Given the description of an element on the screen output the (x, y) to click on. 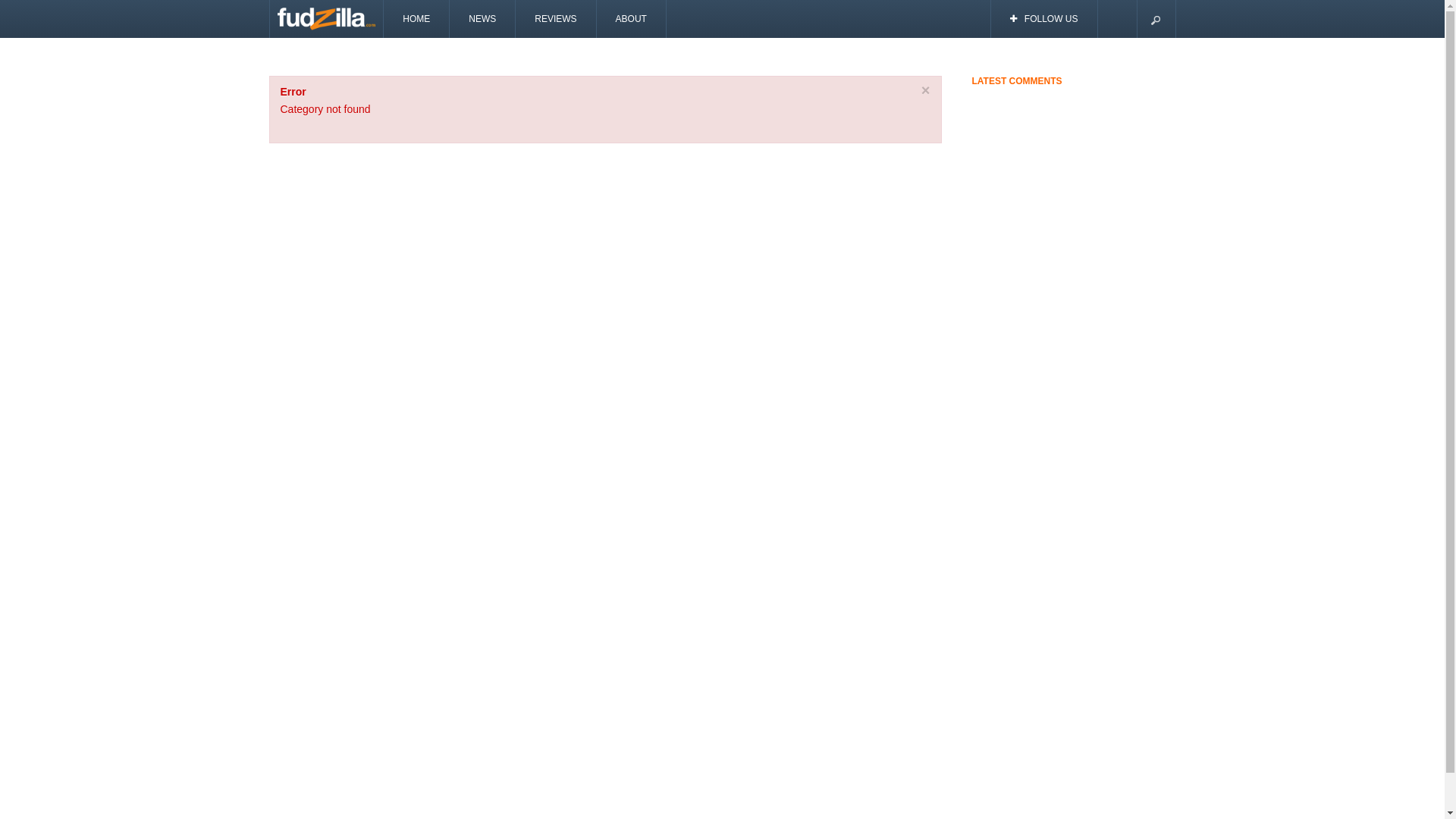
NEWS Element type: text (482, 18)
REVIEWS Element type: text (555, 18)
Fudzilla Element type: hover (326, 18)
FOLLOW US Element type: text (1044, 18)
HOME Element type: text (416, 18)
ABOUT Element type: text (631, 18)
